Given the description of an element on the screen output the (x, y) to click on. 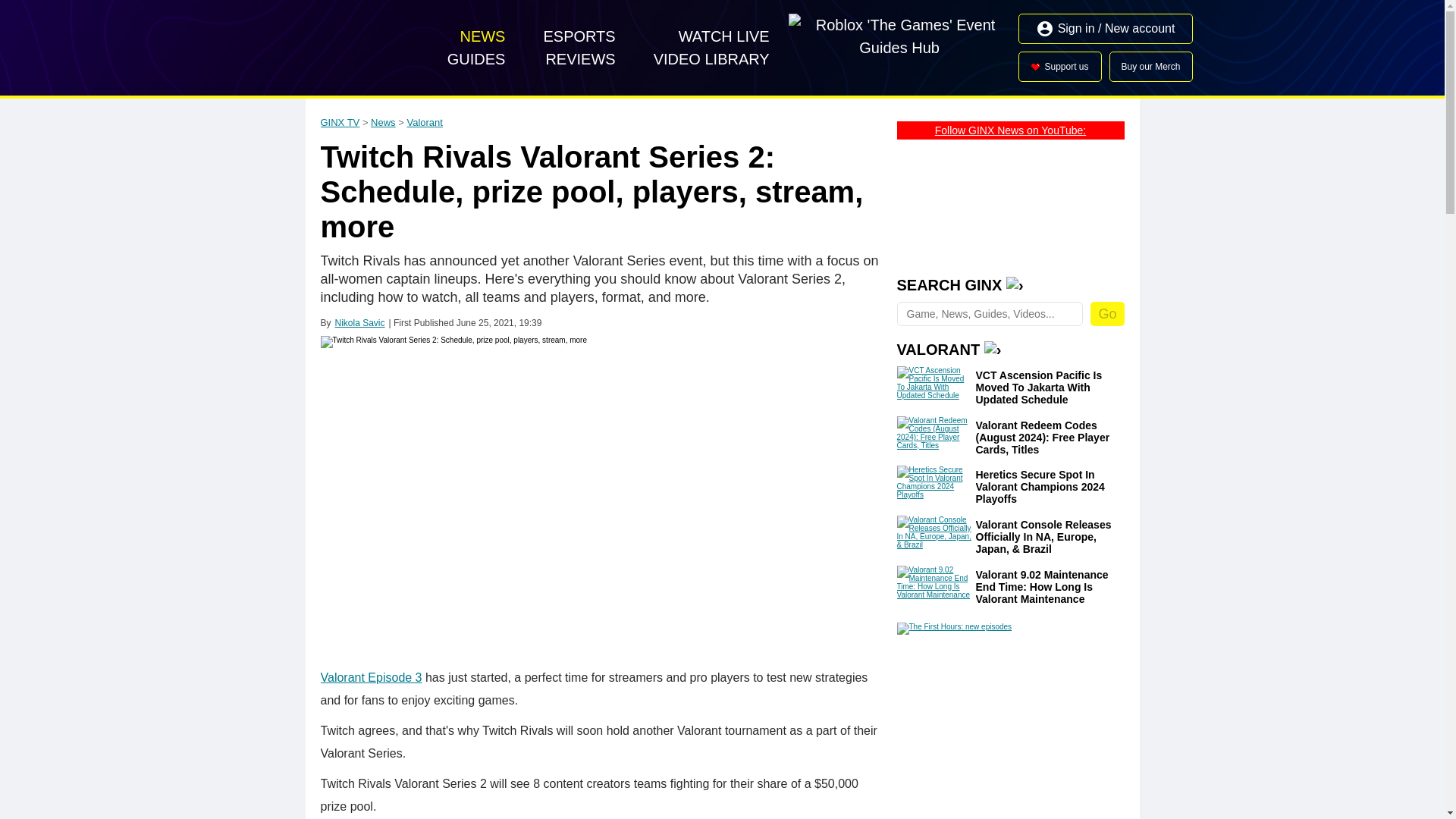
All Esports (579, 36)
Reviews (580, 58)
GINX TV (329, 47)
Upcoming Games (724, 36)
Sign in (1105, 28)
Buy our Merch (1151, 66)
All our guides and tutorials (476, 58)
YouTube video player (1010, 203)
GINX TV (339, 122)
